Given the description of an element on the screen output the (x, y) to click on. 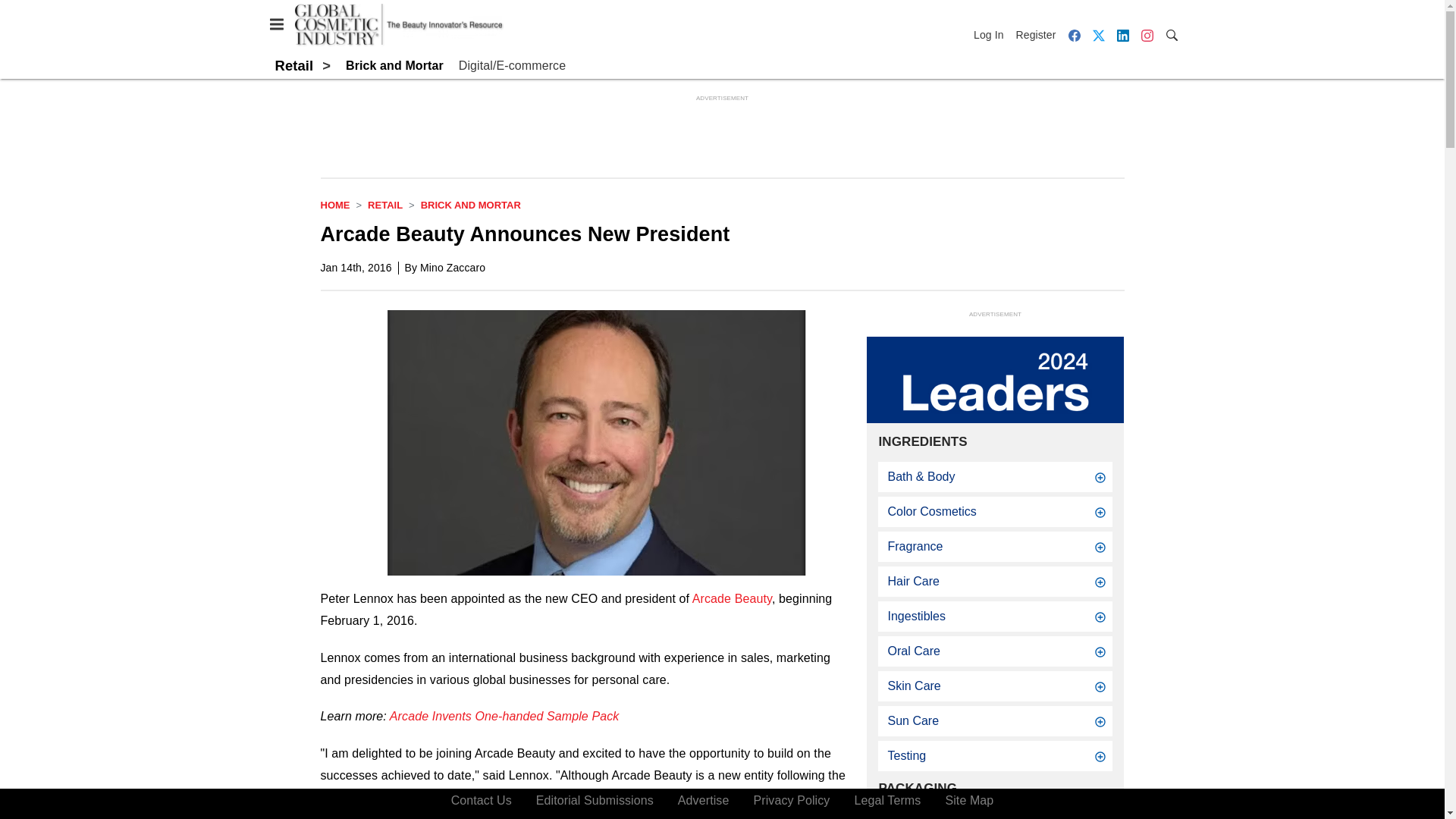
Retail (385, 204)
Facebook icon (1073, 35)
Twitter X icon (1097, 35)
Brick and Mortar (470, 204)
Retail (294, 65)
Brick and Mortar (395, 66)
RETAIL (385, 204)
Instagram icon (1146, 35)
Register (1036, 34)
Home (334, 204)
Facebook icon (1073, 35)
HOME (334, 204)
Instagram icon (1146, 35)
Search (1170, 33)
LinkedIn icon (1121, 35)
